Given the description of an element on the screen output the (x, y) to click on. 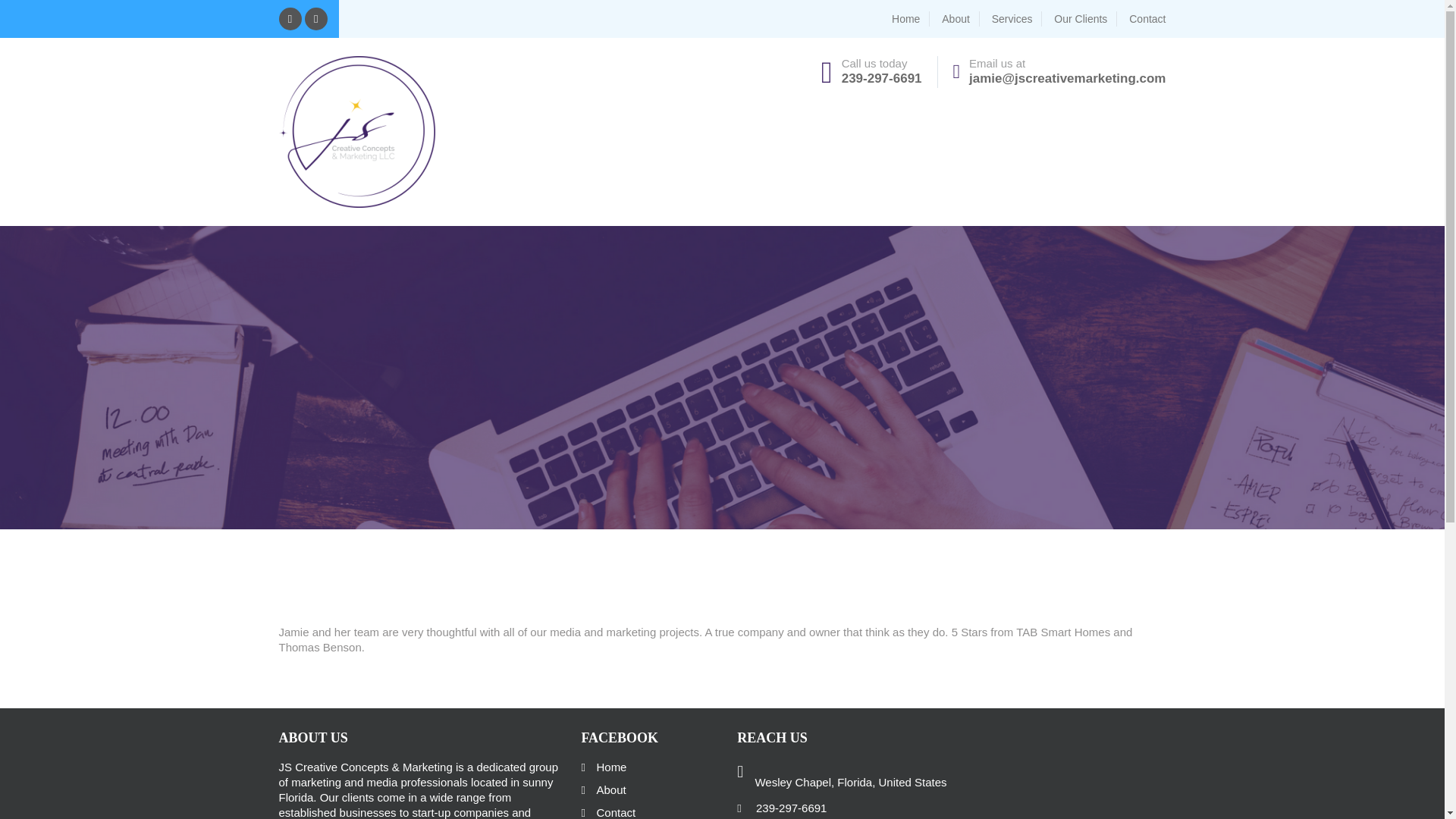
Our Clients (1085, 18)
About (960, 18)
Contact (607, 812)
Home (603, 767)
Services (1016, 18)
Contact (1147, 18)
facebook (290, 18)
About (603, 789)
Home (910, 18)
twitter (315, 18)
